Given the description of an element on the screen output the (x, y) to click on. 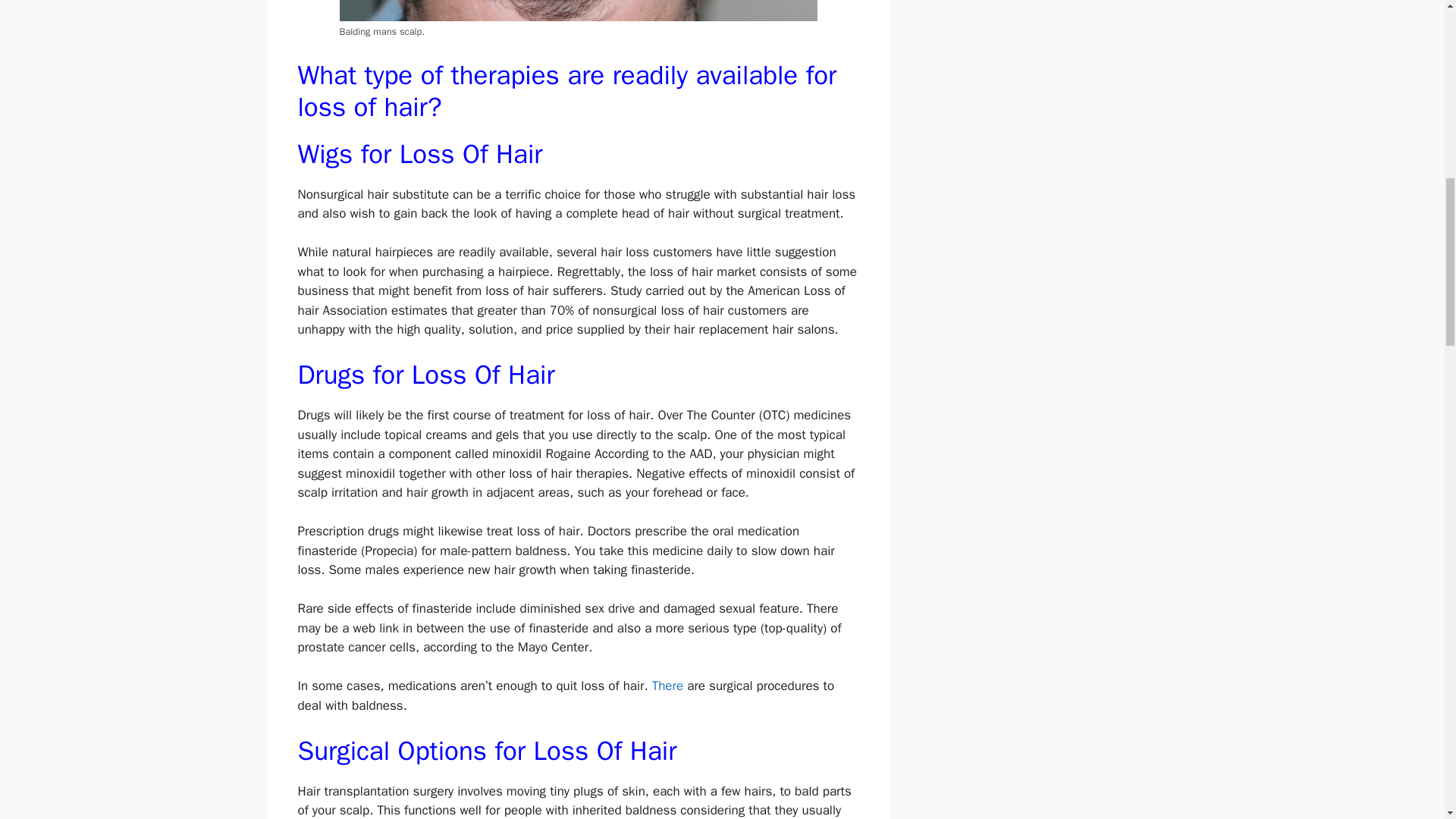
There (667, 685)
